Given the description of an element on the screen output the (x, y) to click on. 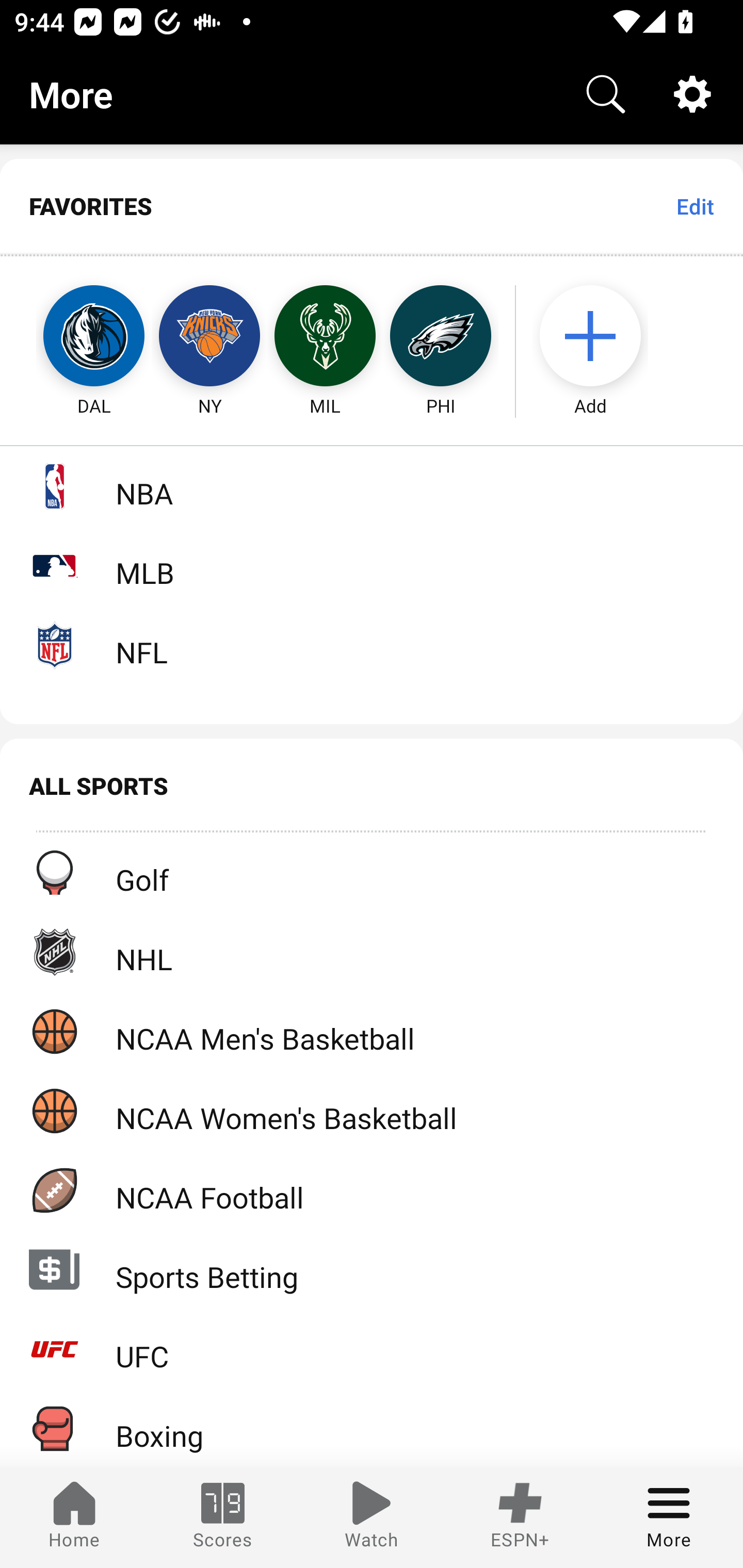
Search (605, 93)
Settings (692, 93)
Edit (695, 205)
DAL Dallas Mavericks (75, 336)
NY New York Knicks (209, 336)
MIL Milwaukee Bucks (324, 336)
PHI Philadelphia Eagles (440, 336)
 Add (599, 336)
NBA (371, 485)
MLB (371, 565)
NFL (371, 645)
Golf (371, 872)
NHL (371, 951)
NCAA Men's Basketball (371, 1030)
NCAA Women's Basketball (371, 1110)
NCAA Football (371, 1189)
Sports Betting (371, 1269)
UFC (371, 1349)
Boxing (371, 1428)
Home (74, 1517)
Scores (222, 1517)
Watch (371, 1517)
ESPN+ (519, 1517)
